Given the description of an element on the screen output the (x, y) to click on. 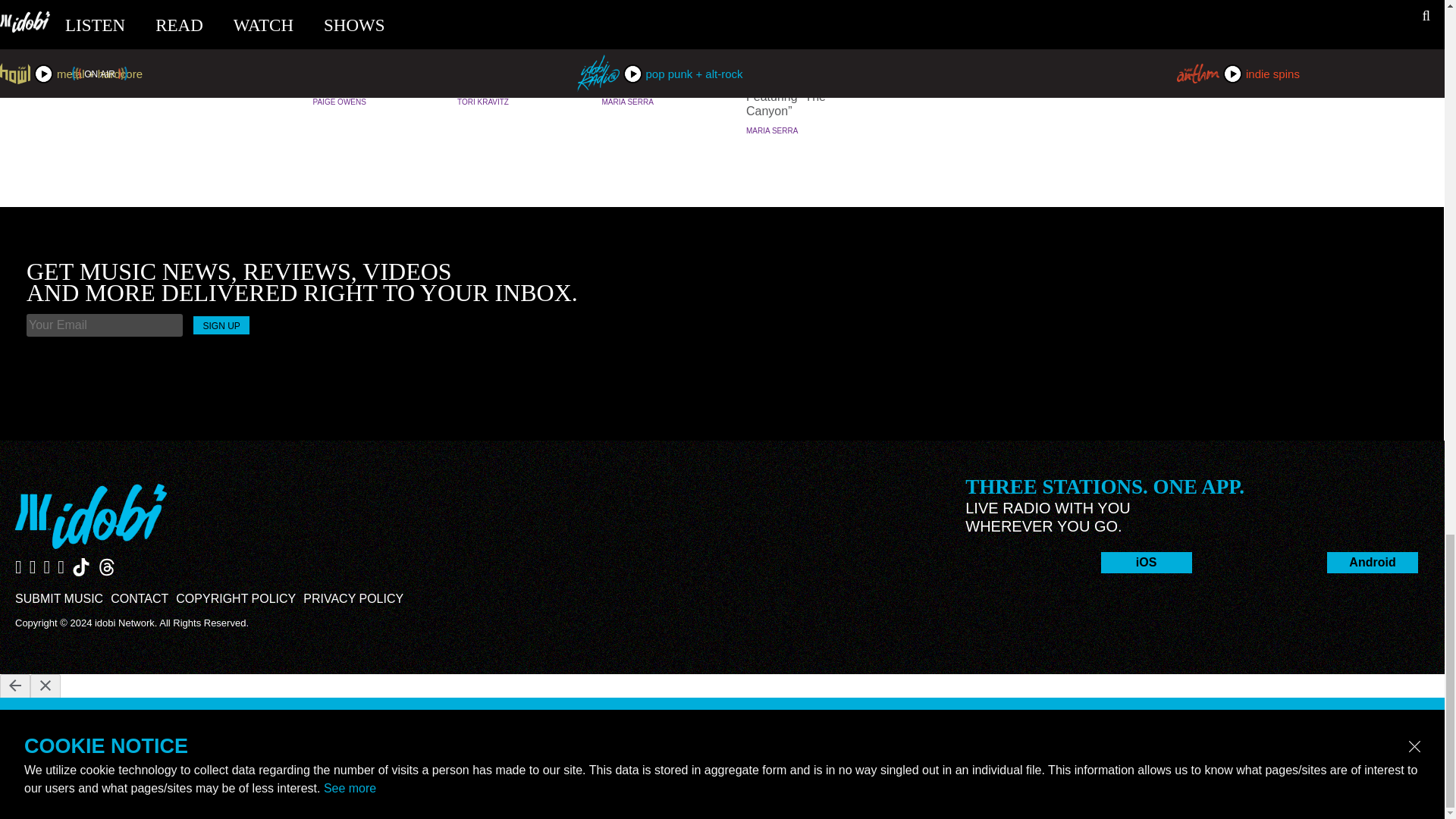
Maria Serra (771, 130)
MARIA SERRA (771, 130)
NEWS (369, 36)
FEATURES (514, 36)
SIGN UP (220, 325)
MARIA SERRA (627, 101)
NEWS (803, 36)
PAIGE OWENS (339, 101)
NEWS (659, 36)
Maria Serra (627, 101)
TORI KRAVITZ (482, 101)
Tori Kravitz (482, 101)
Rain City Drive Announces Massive Headline Fall Tour (659, 67)
Paige Owens (339, 101)
